Given the description of an element on the screen output the (x, y) to click on. 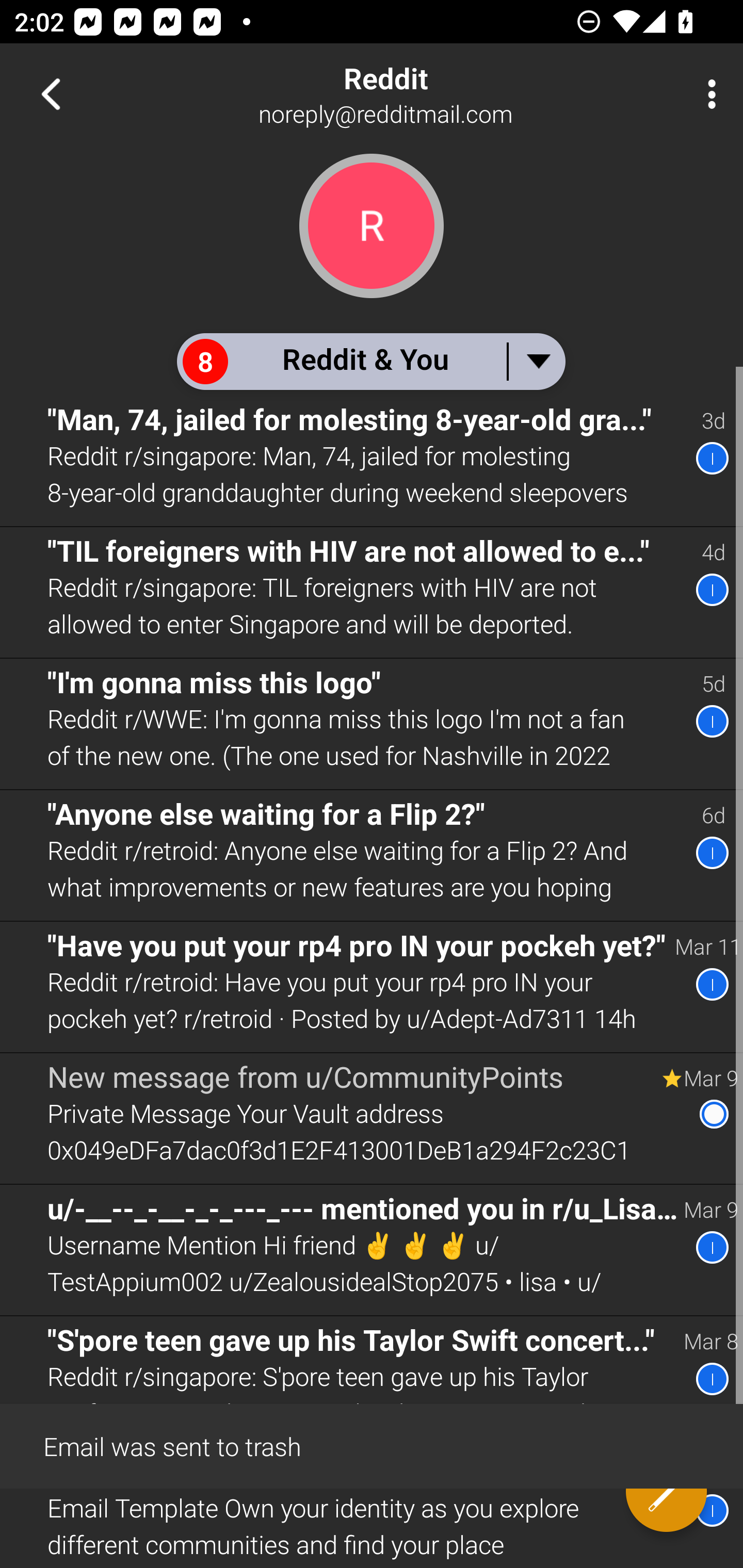
Navigate up (50, 93)
Reddit noreply@redditmail.com (436, 93)
More Options (706, 93)
8 Reddit & You (370, 361)
Email was sent to trash (371, 1445)
